Given the description of an element on the screen output the (x, y) to click on. 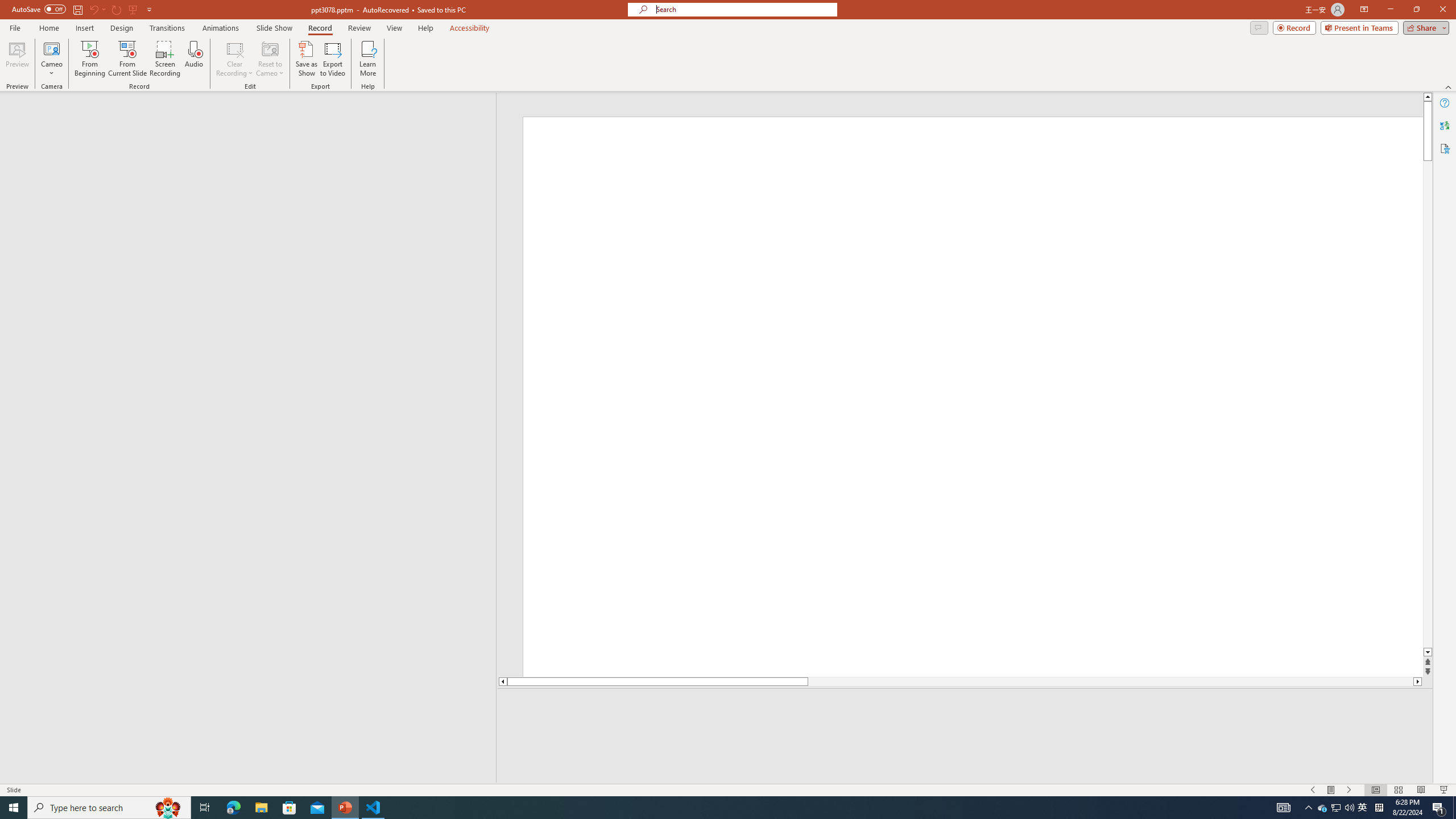
Clear Recording (234, 58)
Export to Video (332, 58)
Menu On (1331, 790)
